Given the description of an element on the screen output the (x, y) to click on. 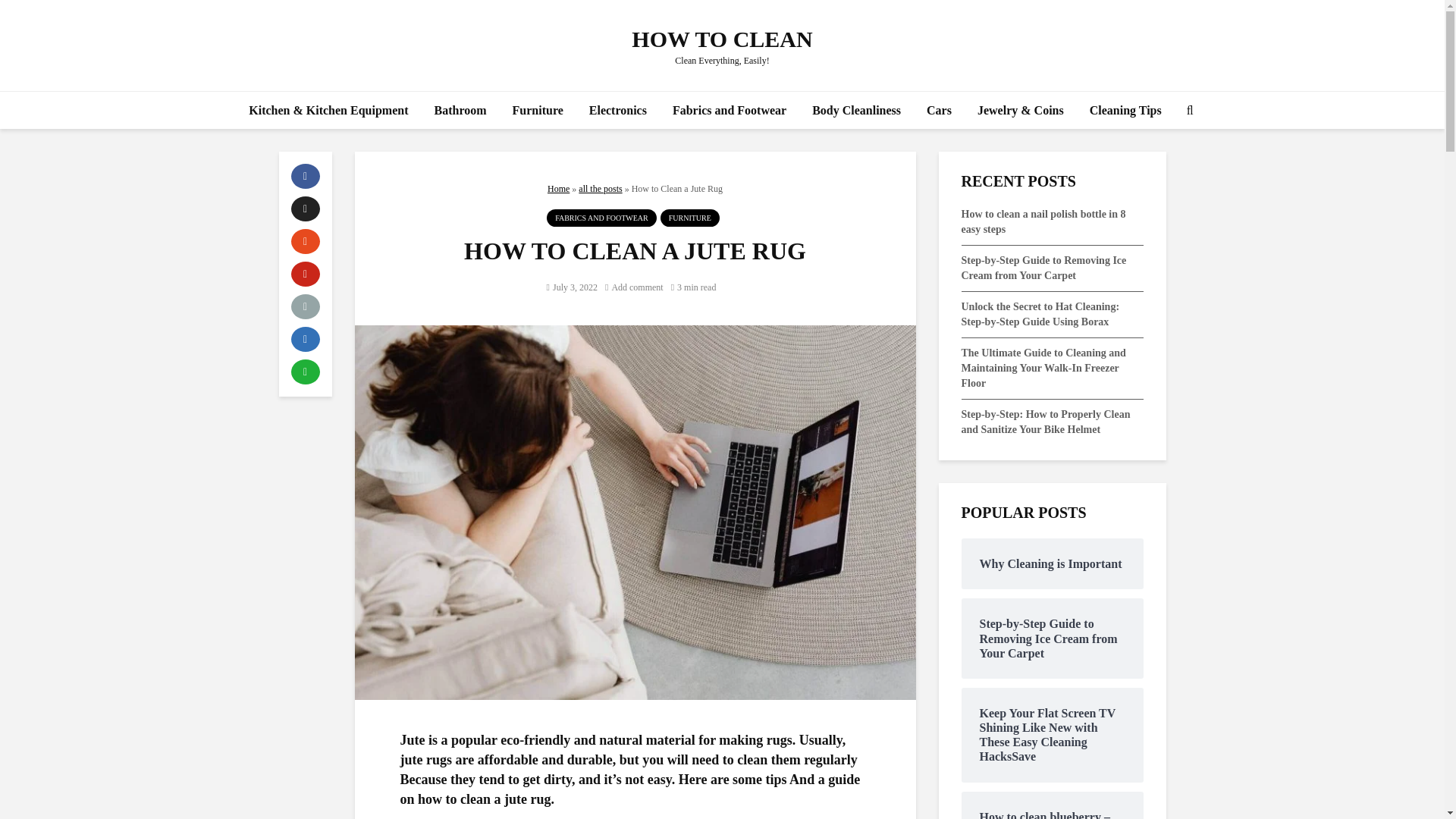
Add comment (634, 286)
HOW TO CLEAN (721, 38)
all the posts (599, 188)
Furniture (537, 110)
Body Cleanliness (856, 110)
Electronics (618, 110)
Cars (938, 110)
Bathroom (459, 110)
Fabrics and Footwear (729, 110)
Home (558, 188)
